Given the description of an element on the screen output the (x, y) to click on. 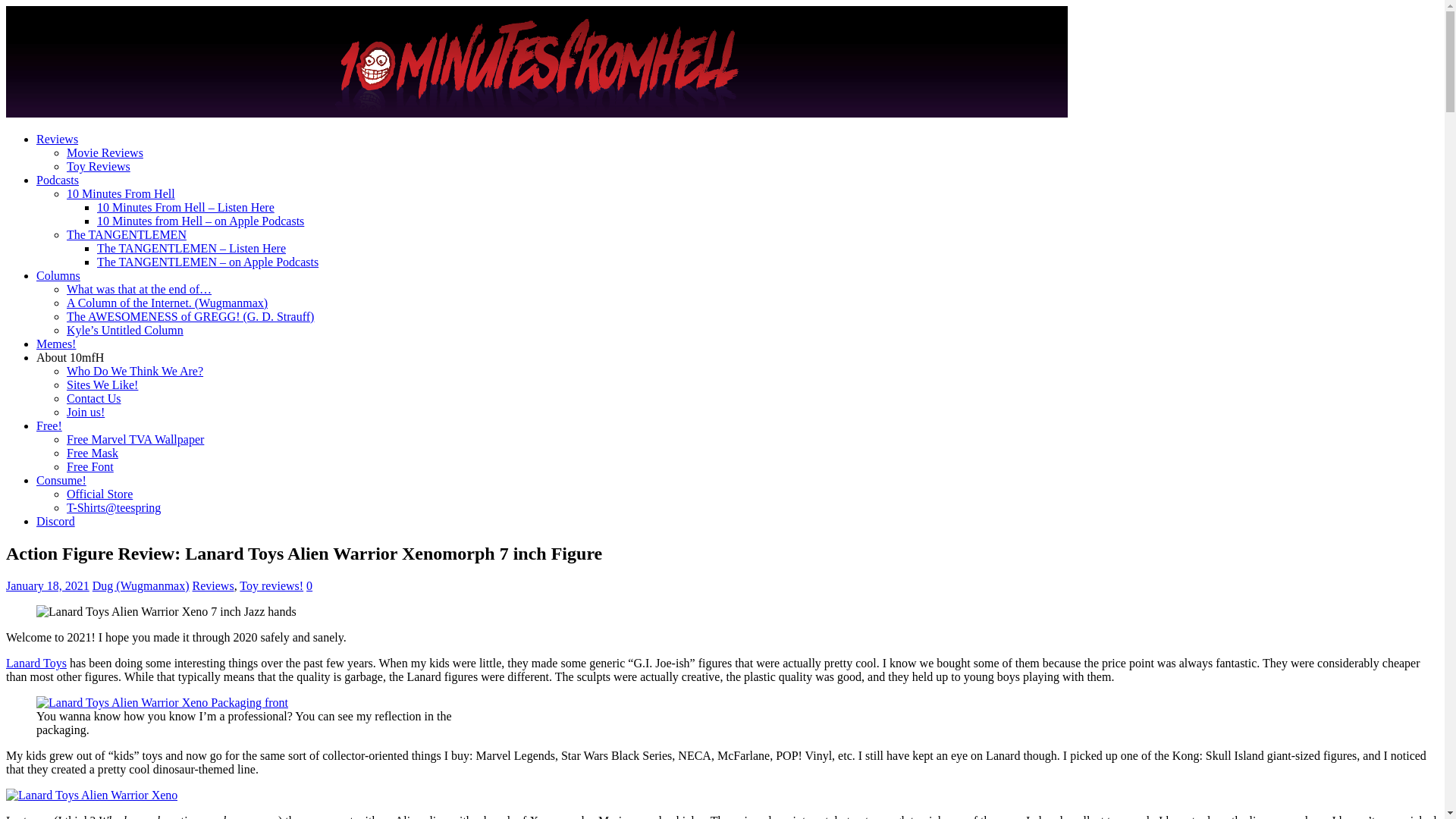
Dug (Wugmanmax) Element type: text (140, 585)
Podcasts Element type: text (57, 179)
About 10mfH Element type: text (69, 357)
Sites We Like! Element type: text (102, 384)
Who Do We Think We Are? Element type: text (134, 370)
January 18, 2021 Element type: text (47, 585)
Columns Element type: text (58, 275)
The AWESOMENESS of GREGG! (G. D. Strauff) Element type: text (189, 316)
T-Shirts@teespring Element type: text (113, 507)
Free! Element type: text (49, 425)
Toy reviews! Element type: text (271, 585)
Free Mask Element type: text (92, 452)
10 minutes from Hell Element type: hover (536, 112)
Discord Element type: text (55, 520)
Movie Reviews Element type: text (104, 152)
A Column of the Internet. (Wugmanmax) Element type: text (166, 302)
Reviews Element type: text (57, 138)
Official Store Element type: text (99, 493)
Toy Reviews Element type: text (98, 166)
Memes! Element type: text (55, 343)
Join us! Element type: text (85, 411)
Reviews Element type: text (213, 585)
Contact Us Element type: text (93, 398)
0 Element type: text (309, 585)
10 Minutes From Hell Element type: text (120, 193)
The TANGENTLEMEN Element type: text (126, 234)
Free Marvel TVA Wallpaper Element type: text (134, 439)
Consume! Element type: text (61, 479)
Lanard Toys Alien Warrior Xeno 7 inch movie recreation Element type: hover (166, 611)
Lanard Toys Element type: text (36, 662)
Free Font Element type: text (89, 466)
